Given the description of an element on the screen output the (x, y) to click on. 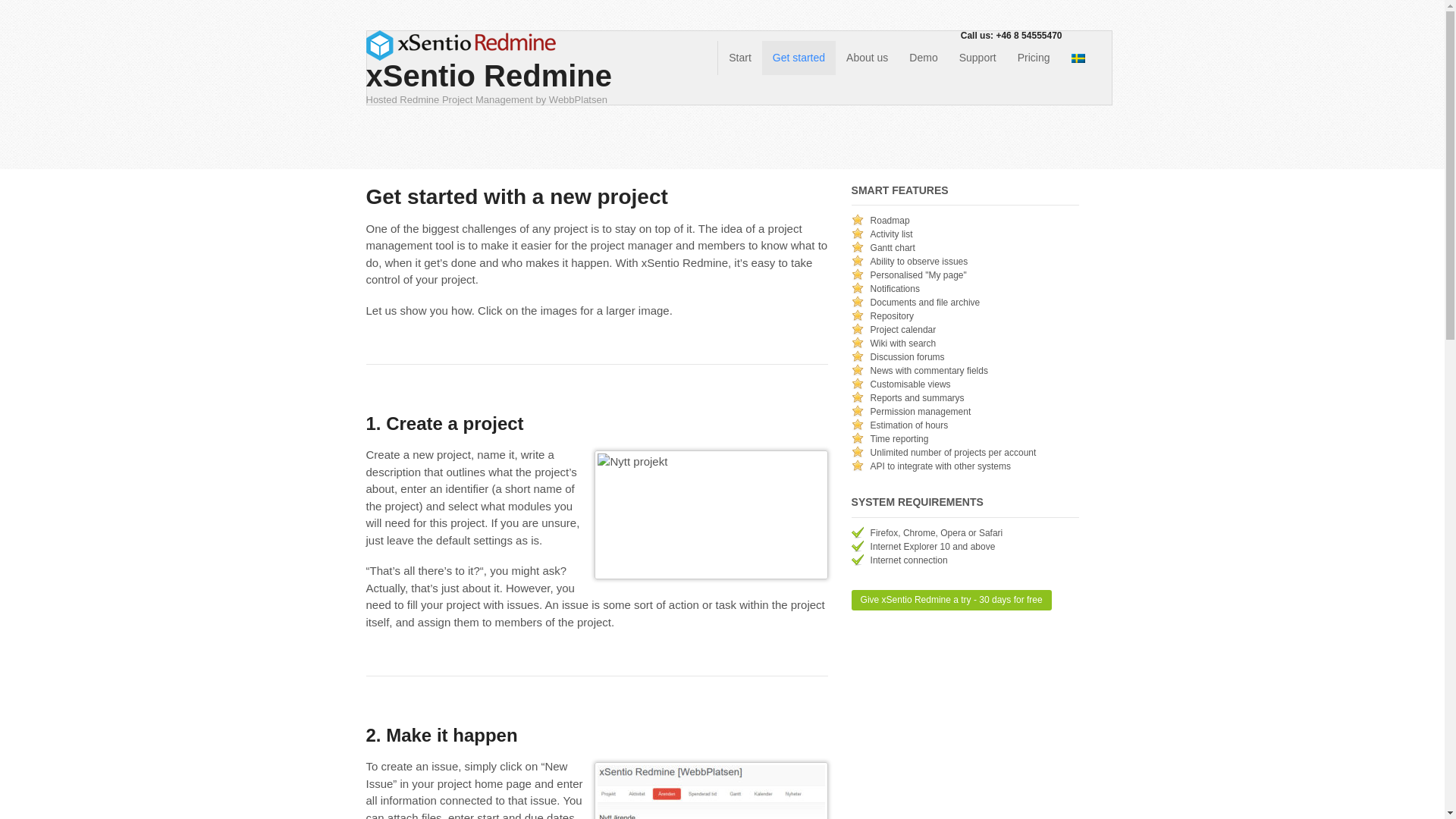
xSentio Redmine support (978, 57)
About us (866, 57)
About us (866, 57)
Hosted Redmine Project Management by WebbPlatsen (459, 52)
Pricing (1034, 57)
Get started (798, 57)
Take control of your projects with xSentio Redmine (739, 57)
Give xSentio Redmine a try - 30 days for free (951, 599)
Start (739, 57)
sv (1077, 59)
